Given the description of an element on the screen output the (x, y) to click on. 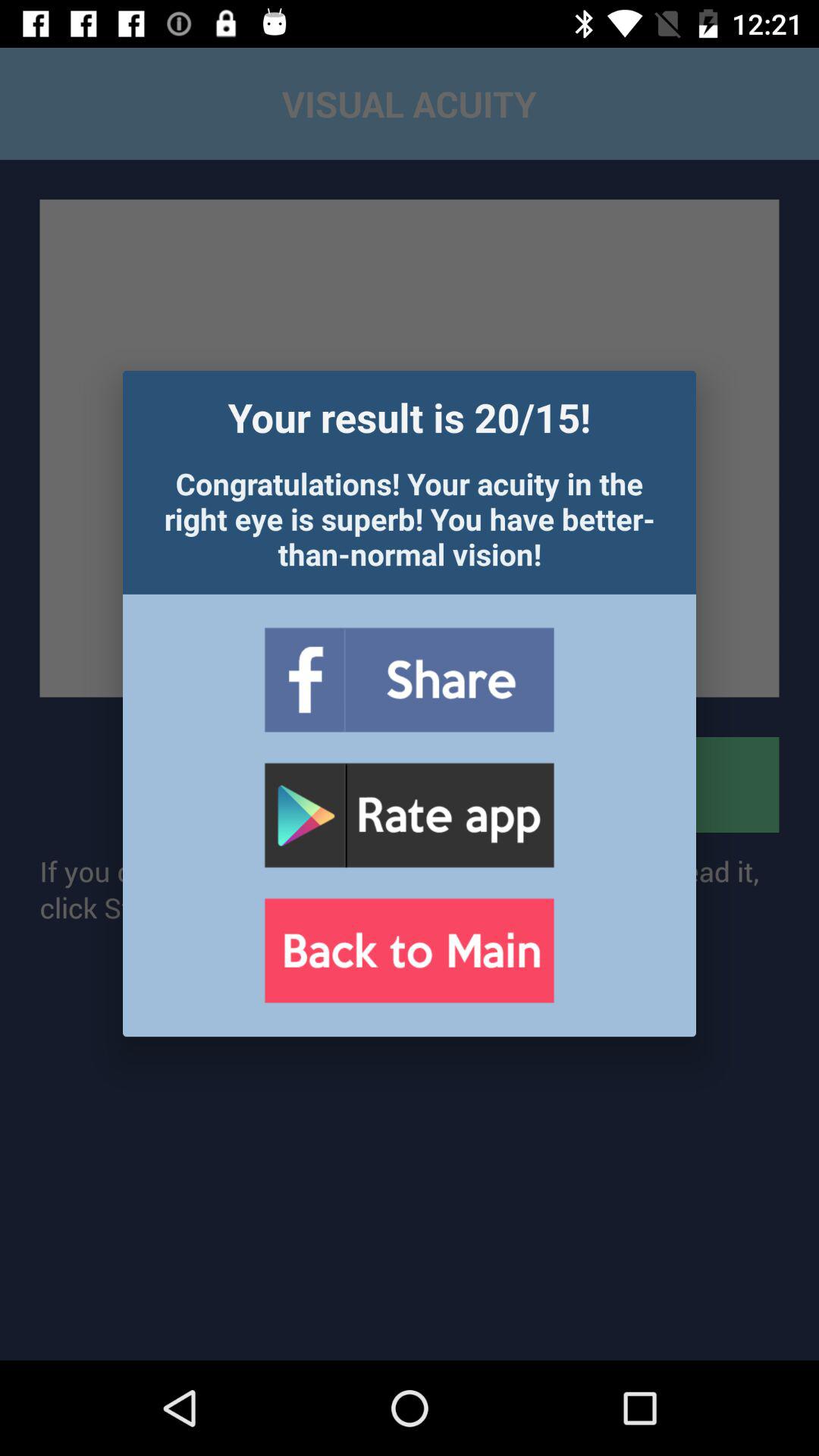
share (408, 679)
